Given the description of an element on the screen output the (x, y) to click on. 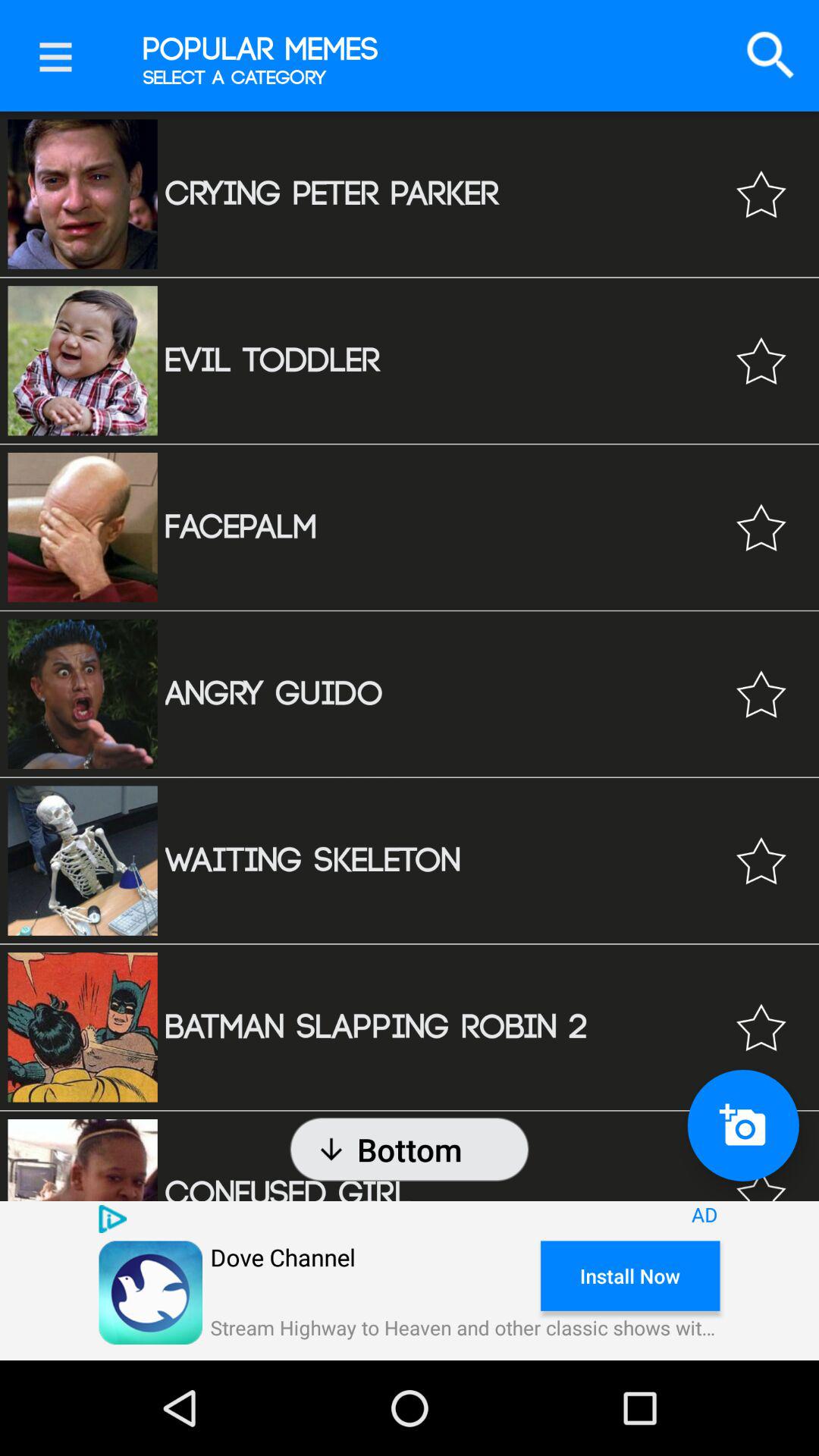
add to favorite (761, 360)
